Given the description of an element on the screen output the (x, y) to click on. 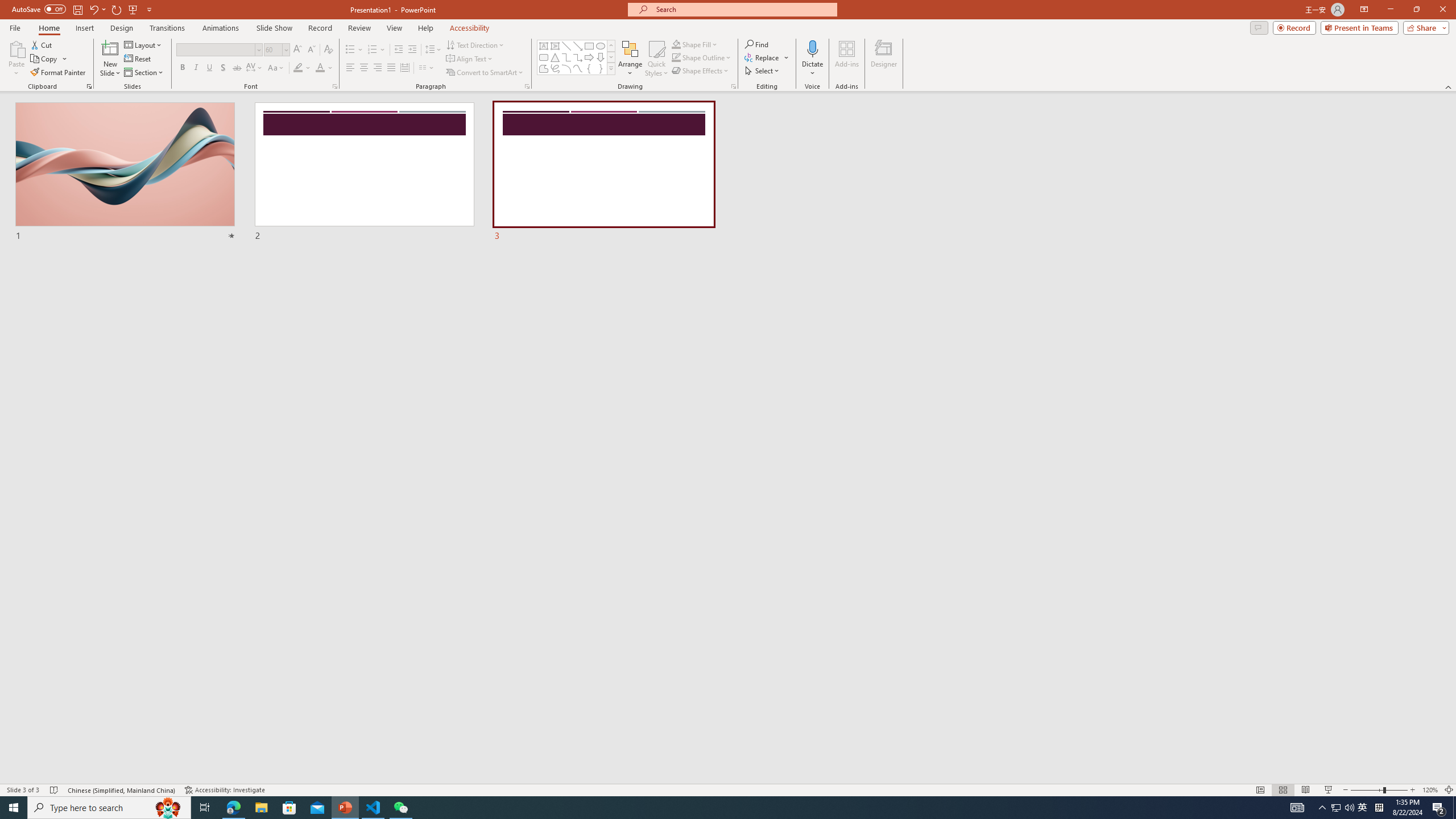
Shape Outline (701, 56)
Underline (209, 67)
Character Spacing (254, 67)
Reset (138, 58)
Layout (143, 44)
Convert to SmartArt (485, 72)
Bold (182, 67)
